Given the description of an element on the screen output the (x, y) to click on. 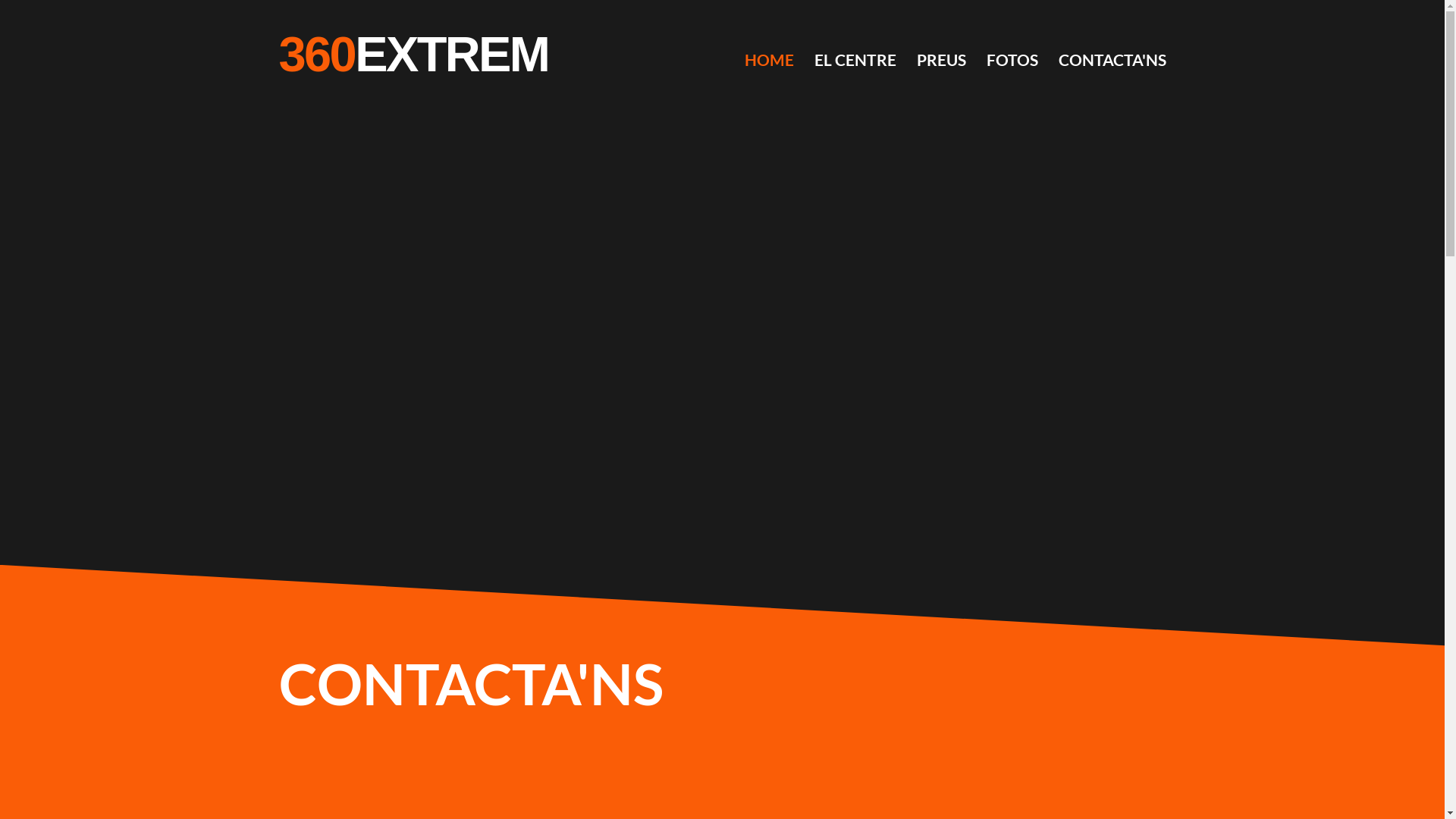
HOME Element type: text (768, 60)
360EXTREM Element type: text (414, 54)
EL CENTRE Element type: text (855, 60)
PREUS Element type: text (940, 60)
CONTACTA'NS Element type: text (1112, 60)
FOTOS Element type: text (1011, 60)
